Given the description of an element on the screen output the (x, y) to click on. 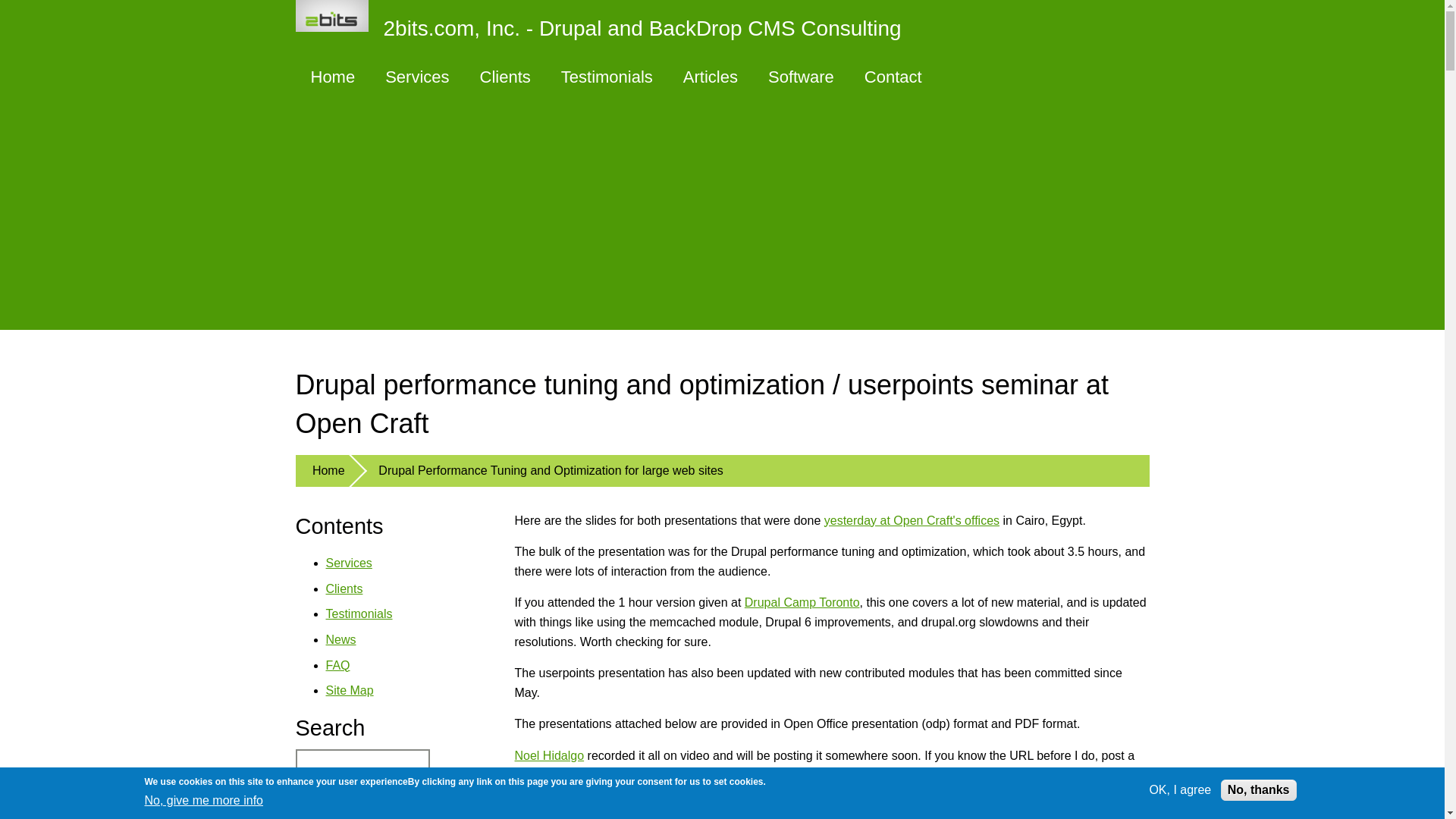
Home (606, 25)
Search (340, 809)
Clients (505, 76)
Home (333, 76)
Services (416, 76)
yesterday at Open Craft's offices (911, 520)
Articles (710, 76)
Site Map (350, 689)
Testimonials (607, 76)
Home page  (333, 76)
News (341, 639)
Noel Hidalgo (548, 755)
